Given the description of an element on the screen output the (x, y) to click on. 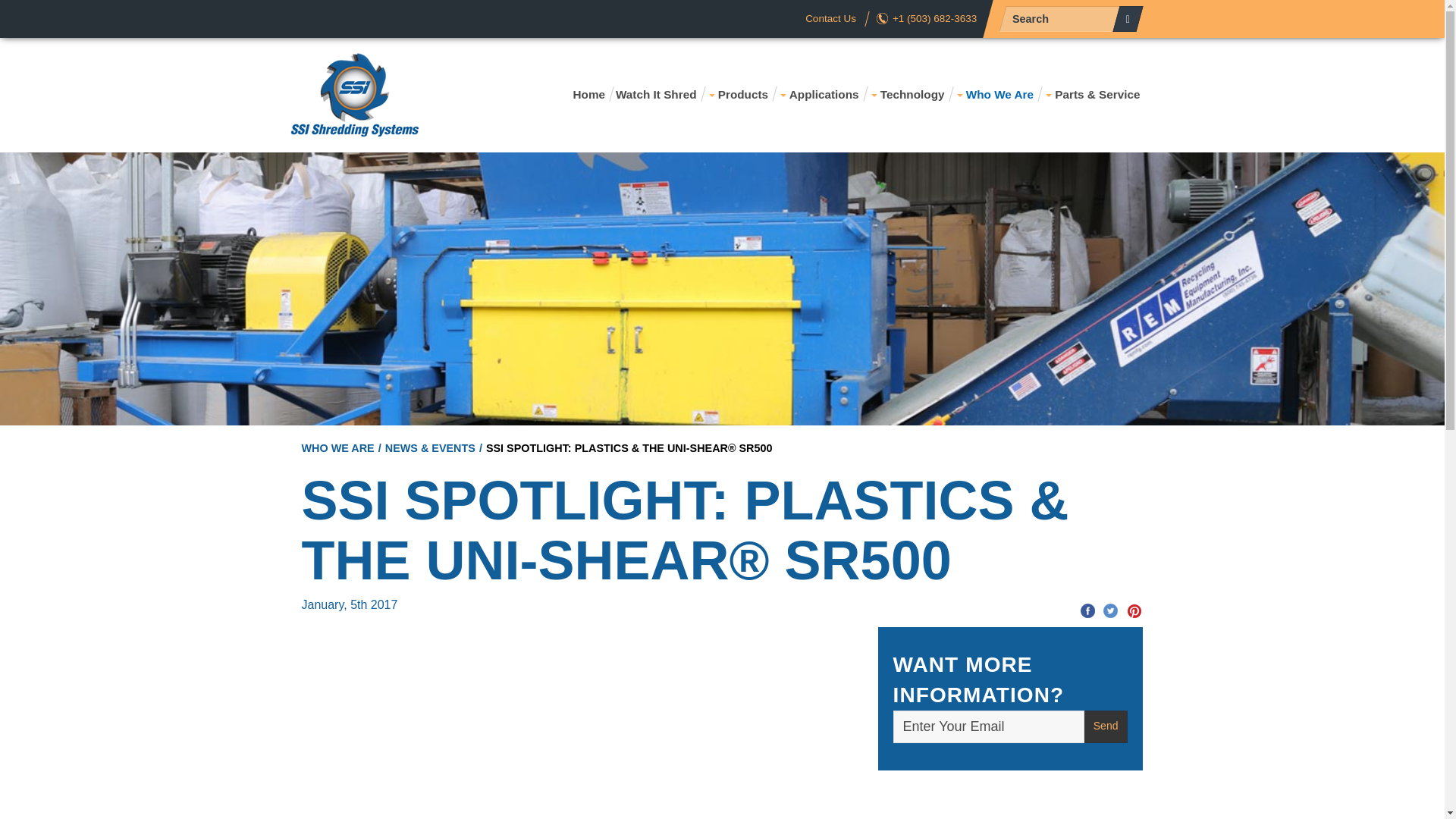
Home (586, 94)
Products (735, 94)
Home (586, 94)
Watch It Shred (654, 94)
Home (354, 93)
Contact Us (830, 18)
